Given the description of an element on the screen output the (x, y) to click on. 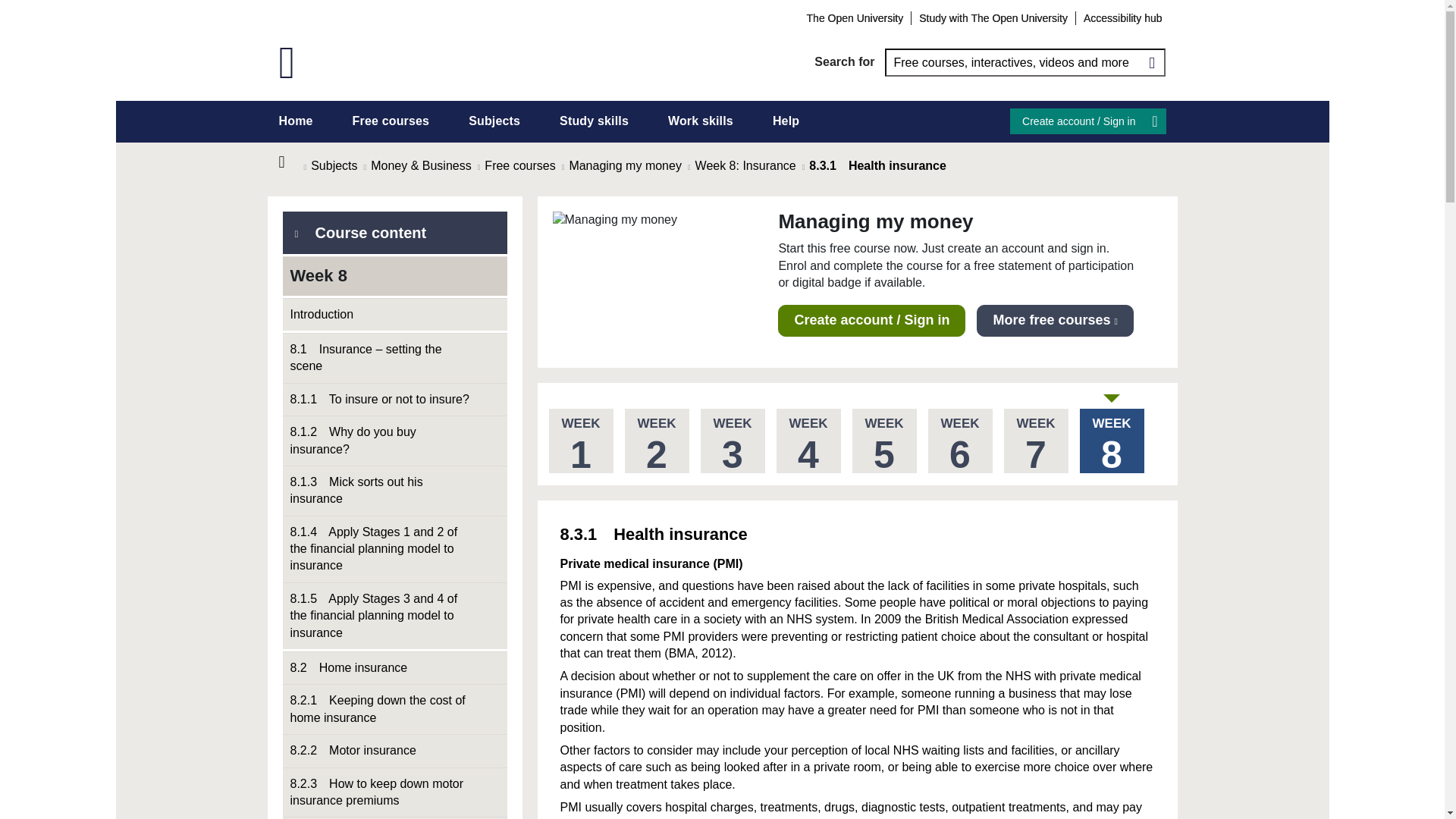
Study with The Open University (993, 17)
Accessibility hub (1123, 17)
Work skills (700, 120)
Free courses (390, 120)
Help (786, 120)
Subjects (493, 120)
The Open University (855, 17)
Study skills (593, 120)
Home (291, 162)
Search (1151, 62)
